Given the description of an element on the screen output the (x, y) to click on. 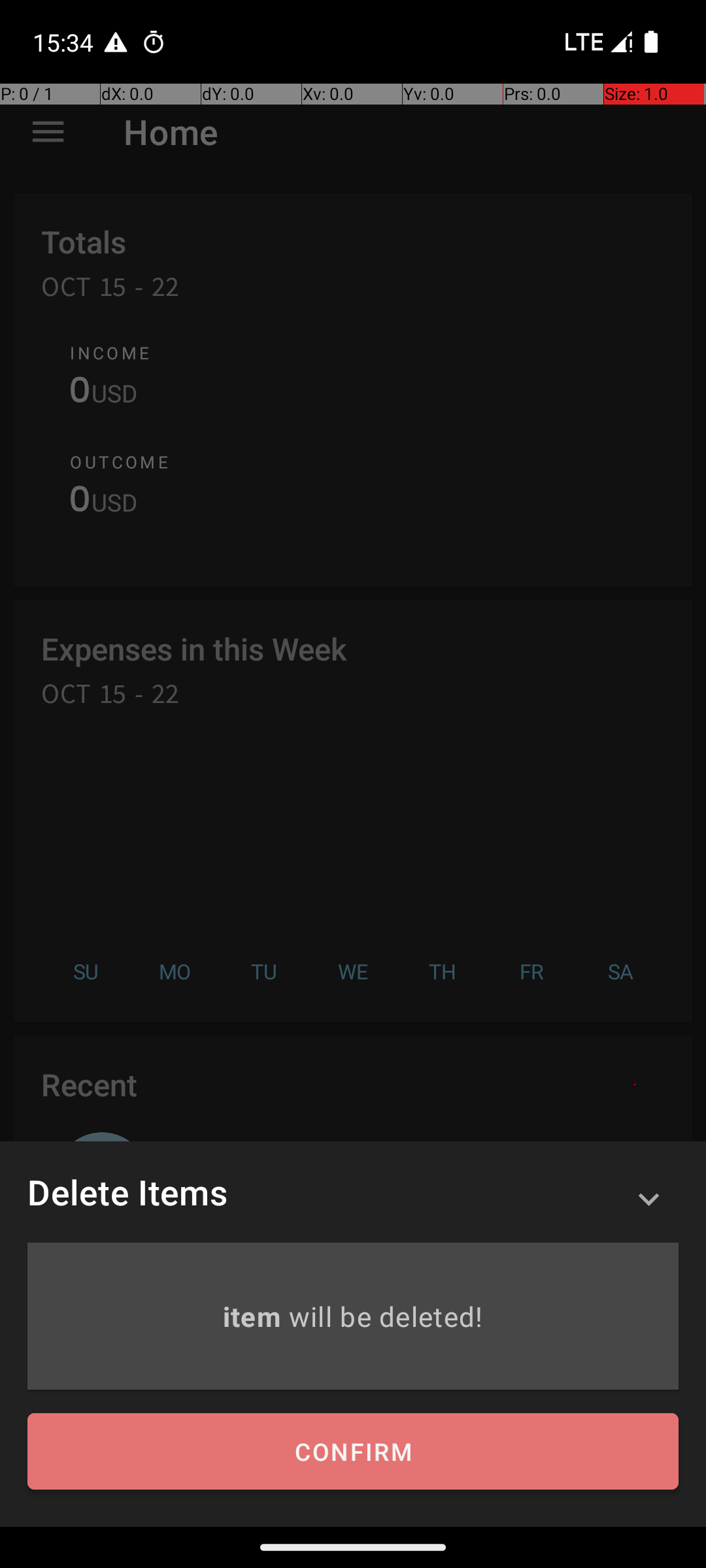
Delete Items Element type: android.widget.TextView (127, 1191)
item  Element type: android.widget.TextView (255, 1315)
will be deleted! Element type: android.widget.TextView (385, 1315)
CONFIRM Element type: android.widget.Button (352, 1451)
